Given the description of an element on the screen output the (x, y) to click on. 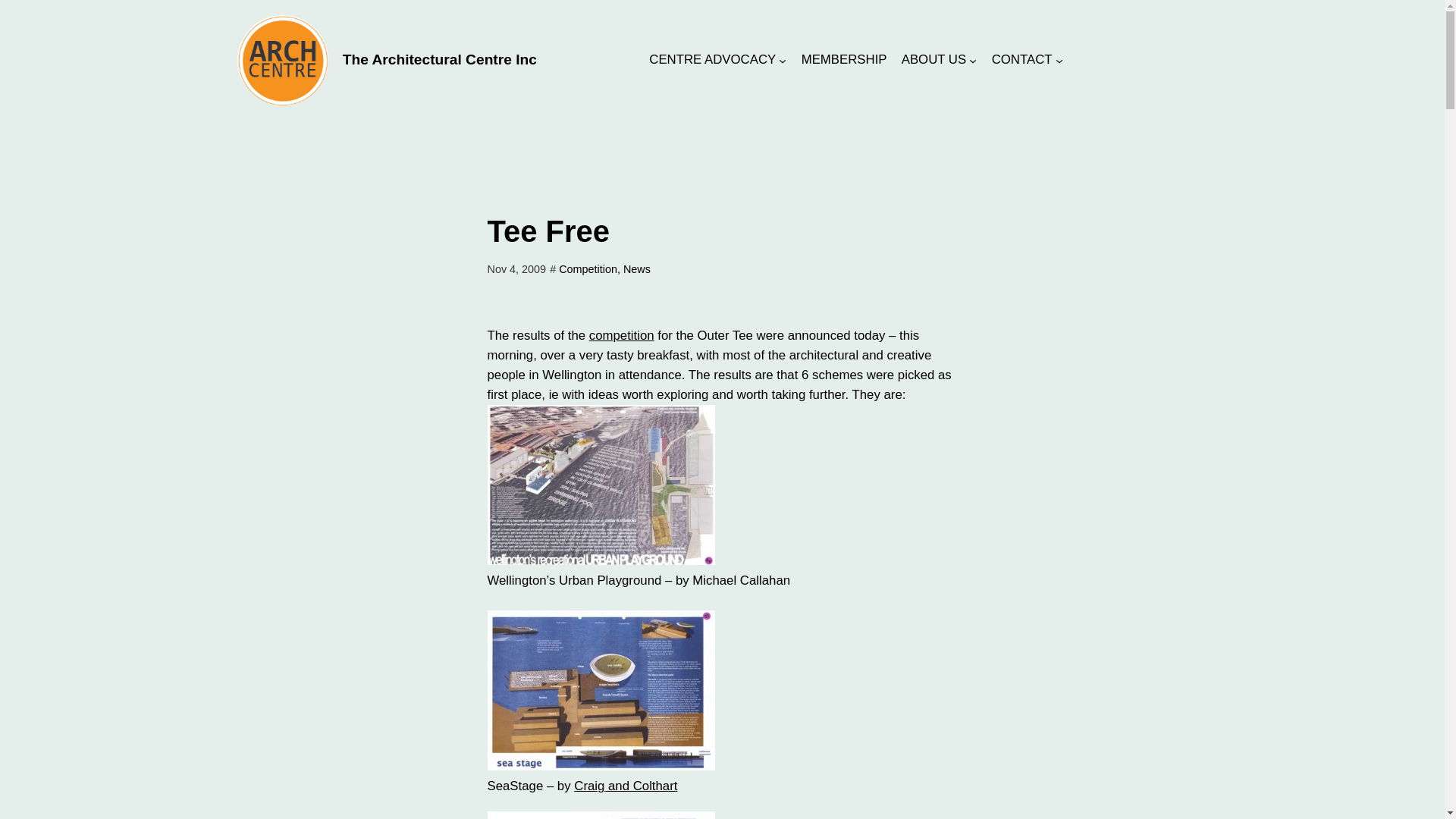
CENTRE ADVOCACY (712, 59)
News (636, 268)
Competition (588, 268)
CONTACT (1021, 59)
The Architectural Centre Inc (439, 59)
MEMBERSHIP (844, 59)
Nov 4, 2009 (516, 268)
ABOUT US (933, 59)
competition (621, 335)
